Given the description of an element on the screen output the (x, y) to click on. 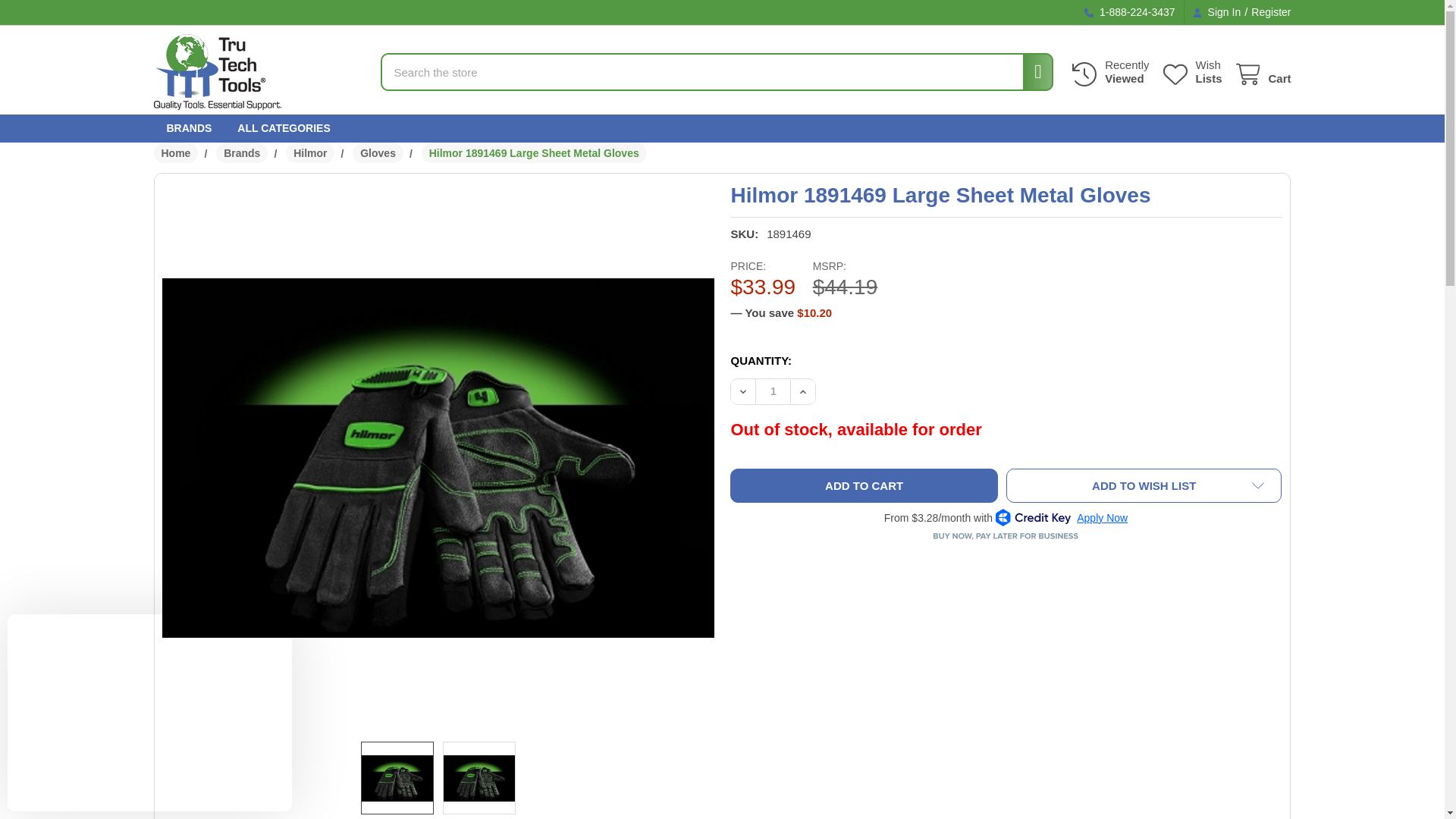
1891469 Large Gloves (396, 778)
Brands (241, 152)
TruTech Tools, Ltd. (216, 71)
ADD TO WISH LIST (1144, 485)
Recently Viewed (1191, 72)
Add to Cart (1109, 72)
Register (863, 485)
DECREASE QUANTITY OF HILMOR 1891469 LARGE SHEET METAL GLOVES (1266, 12)
Hilmor 1891469 Large Sheet Metal Gloves (742, 391)
Cart (534, 152)
Wish Lists (1261, 74)
1891469 Large Gloves (1191, 72)
1 (1261, 74)
